Given the description of an element on the screen output the (x, y) to click on. 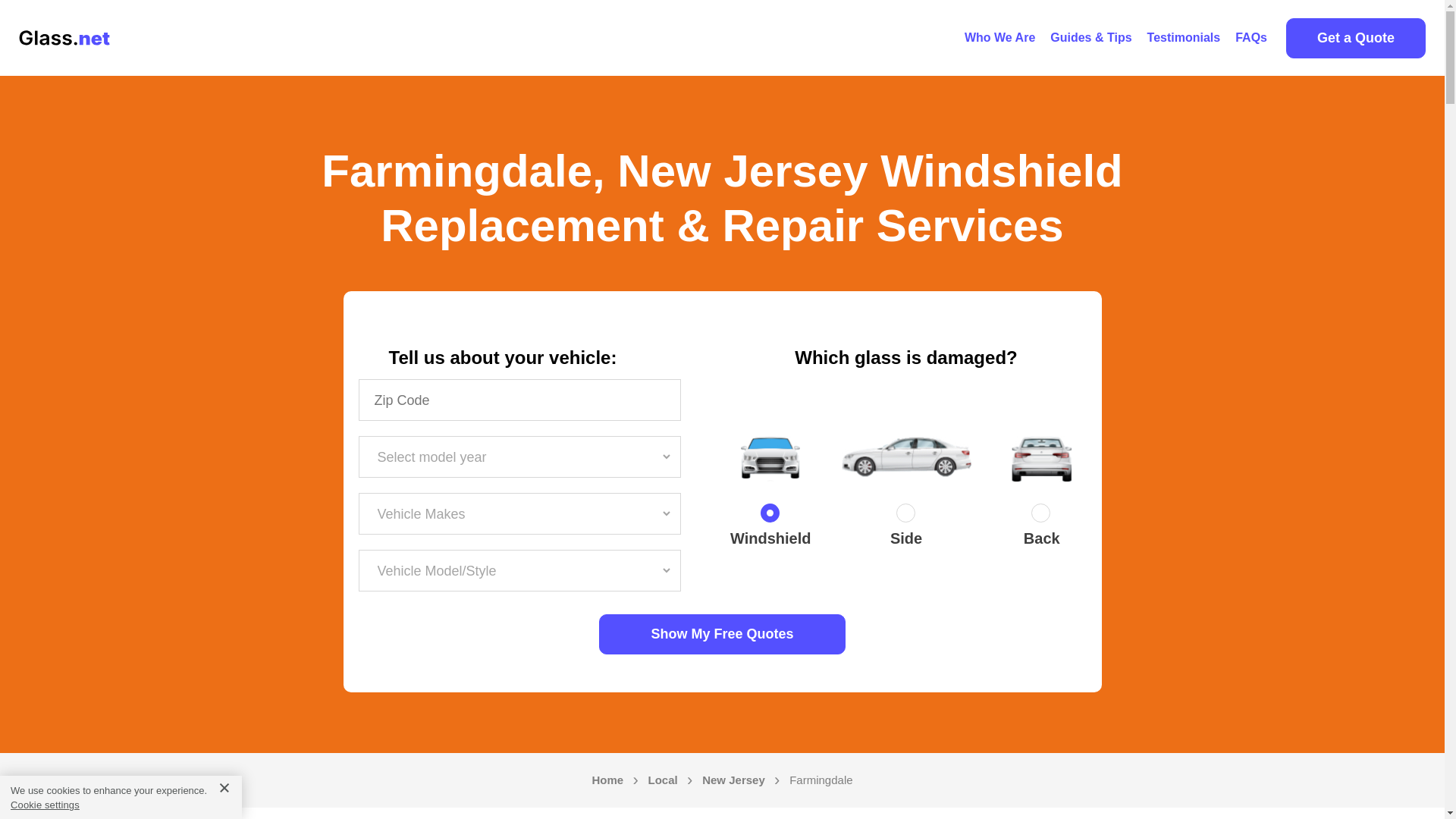
Testimonials (1184, 37)
A Market Place for Car Glass (999, 37)
Show My Free Quotes (721, 634)
Get a Quote (1355, 38)
Local (662, 780)
FAQs (1251, 37)
front (770, 516)
back (1041, 516)
How to Choose Auto Glass (1090, 37)
side (905, 516)
Farmingdale (820, 780)
New Jersey (733, 780)
Who We Are (999, 37)
Home (607, 780)
Testimonials (1184, 37)
